Given the description of an element on the screen output the (x, y) to click on. 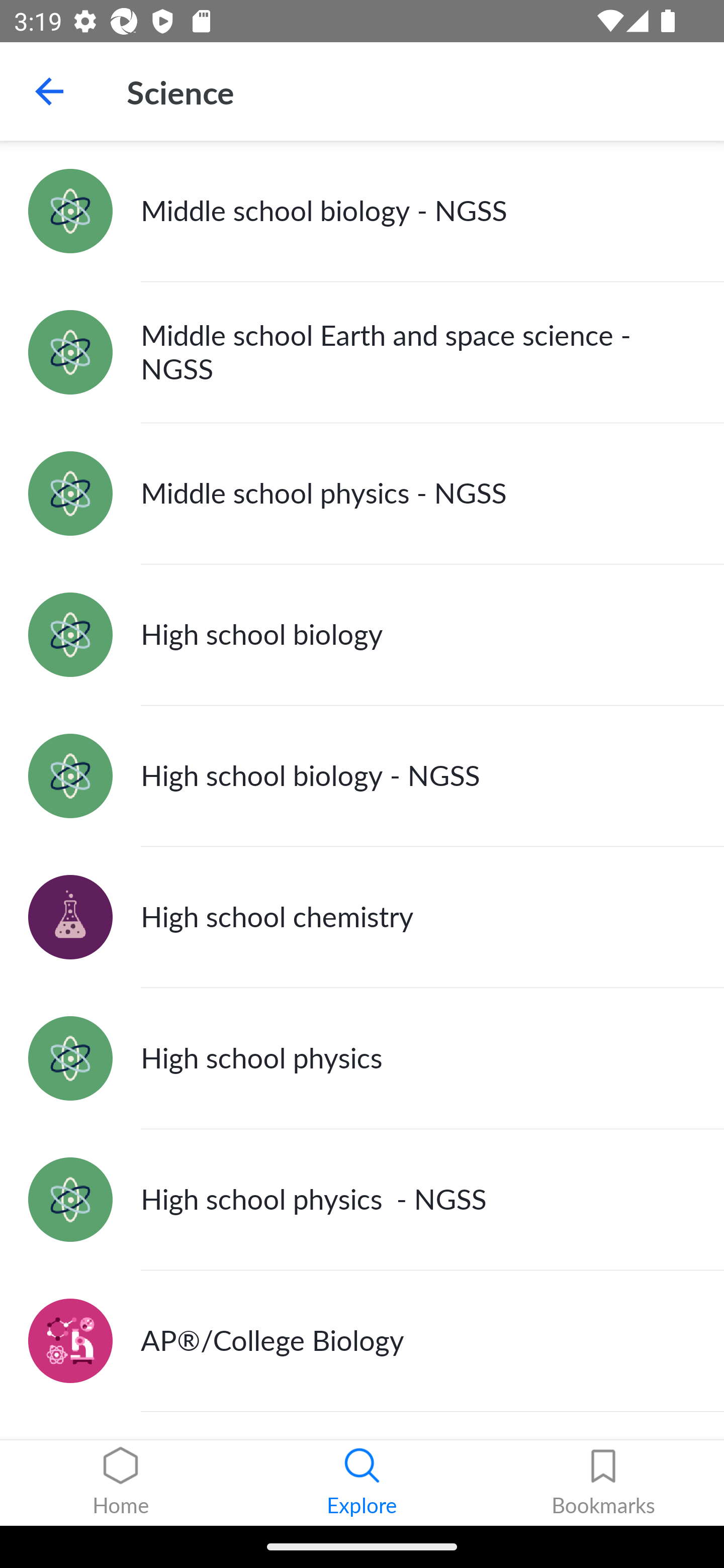
Navigate up (49, 91)
Middle school biology - NGSS  (362, 211)
Middle school Earth and space science - NGSS (362, 352)
Middle school physics - NGSS (362, 493)
High school biology (362, 634)
High school biology - NGSS (362, 775)
High school chemistry (362, 916)
High school physics (362, 1057)
High school physics  - NGSS (362, 1199)
AP®︎/College Biology (362, 1340)
Home (120, 1482)
Explore (361, 1482)
Bookmarks (603, 1482)
